Given the description of an element on the screen output the (x, y) to click on. 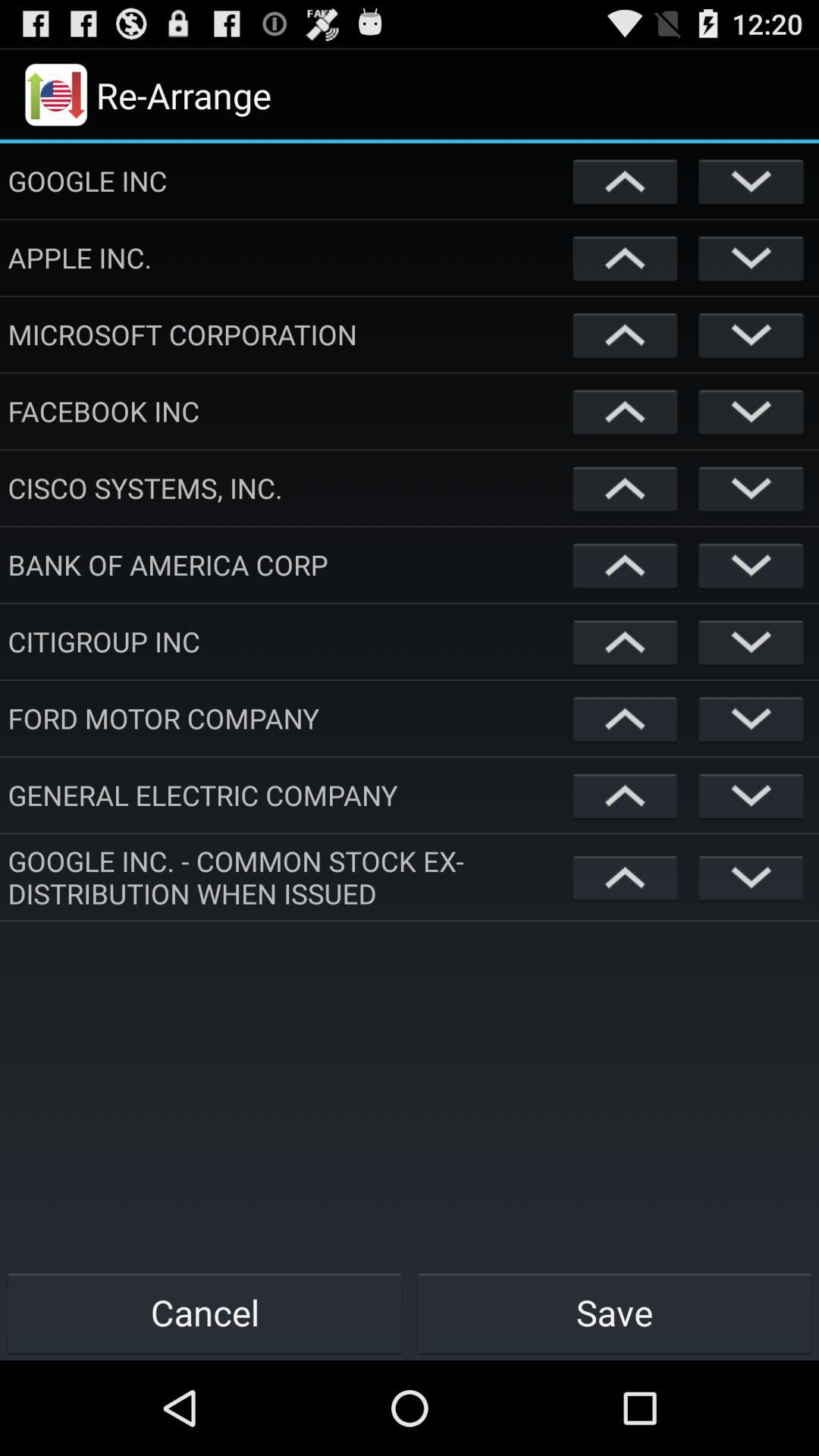
go to back (751, 181)
